Given the description of an element on the screen output the (x, y) to click on. 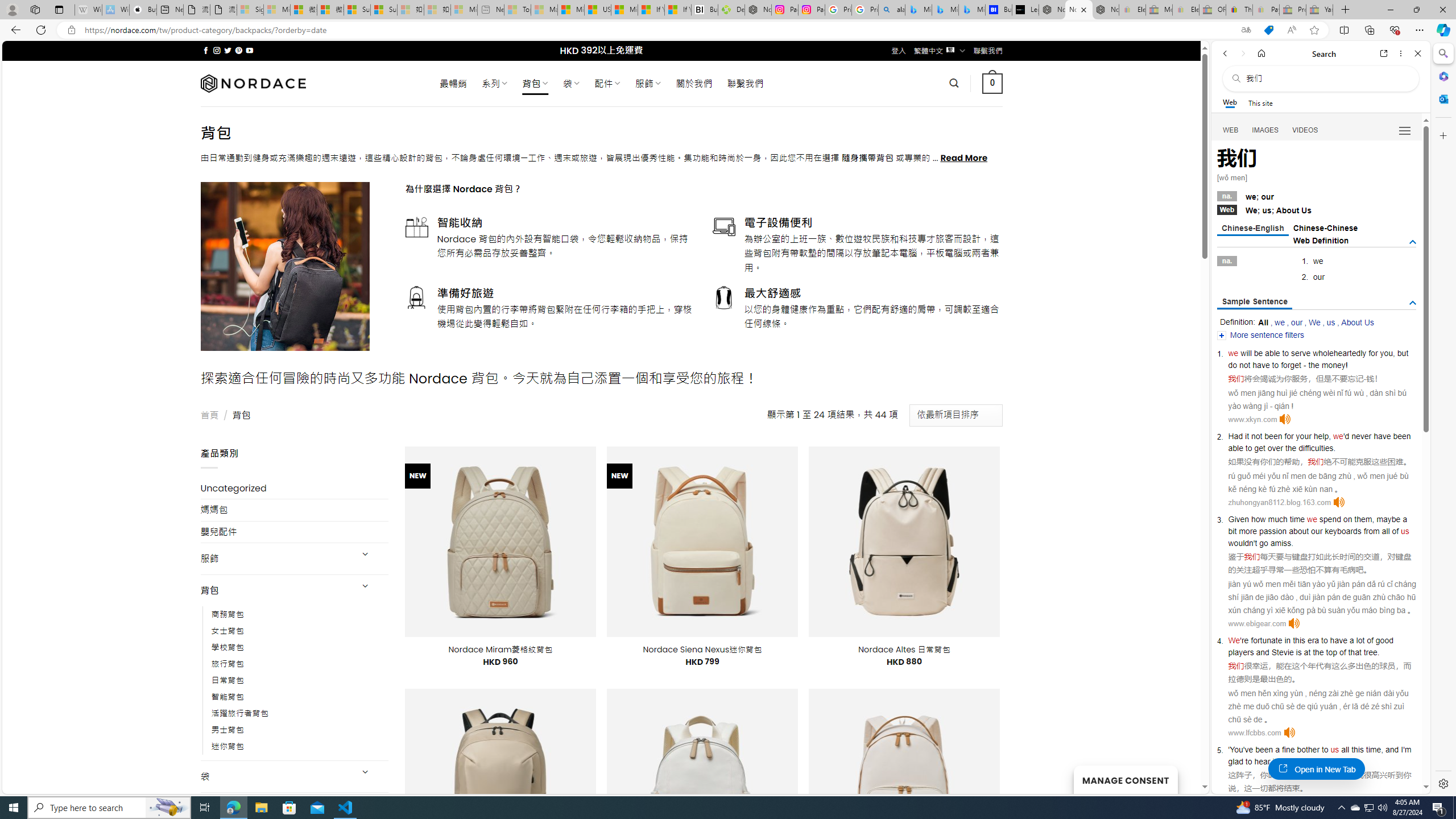
over (1275, 447)
 0  (992, 83)
will (1246, 352)
to (1323, 640)
zhuhongyan8112.blog.163.com (1278, 501)
